Given the description of an element on the screen output the (x, y) to click on. 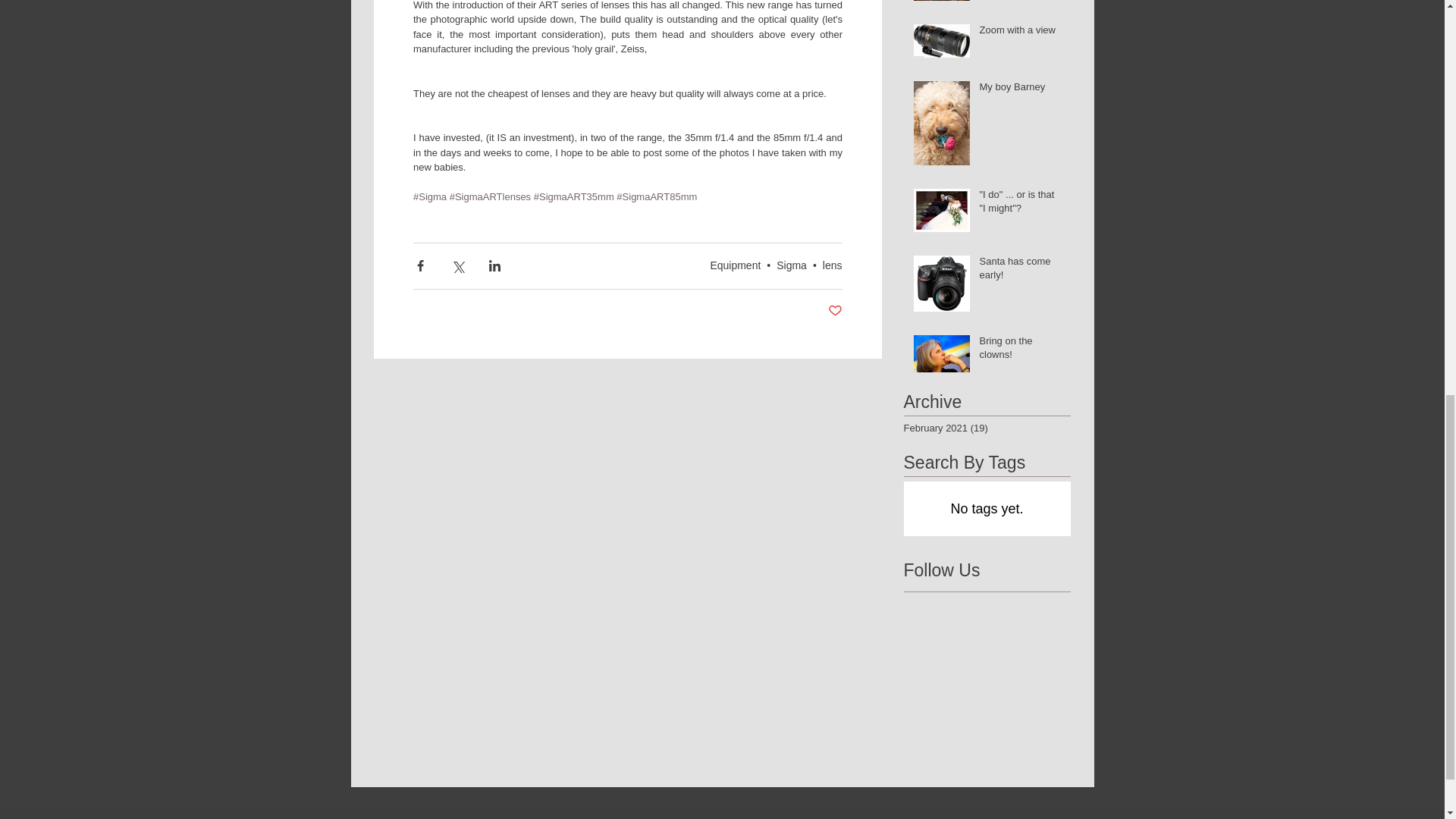
Equipment (735, 265)
My boy Barney (1020, 89)
lens (832, 265)
Sigma (791, 265)
Post not marked as liked (835, 311)
Santa has come early! (1020, 271)
Bring on the clowns! (1020, 350)
"I do" ... or is that "I might"? (1020, 204)
Zoom with a view (1020, 33)
